Given the description of an element on the screen output the (x, y) to click on. 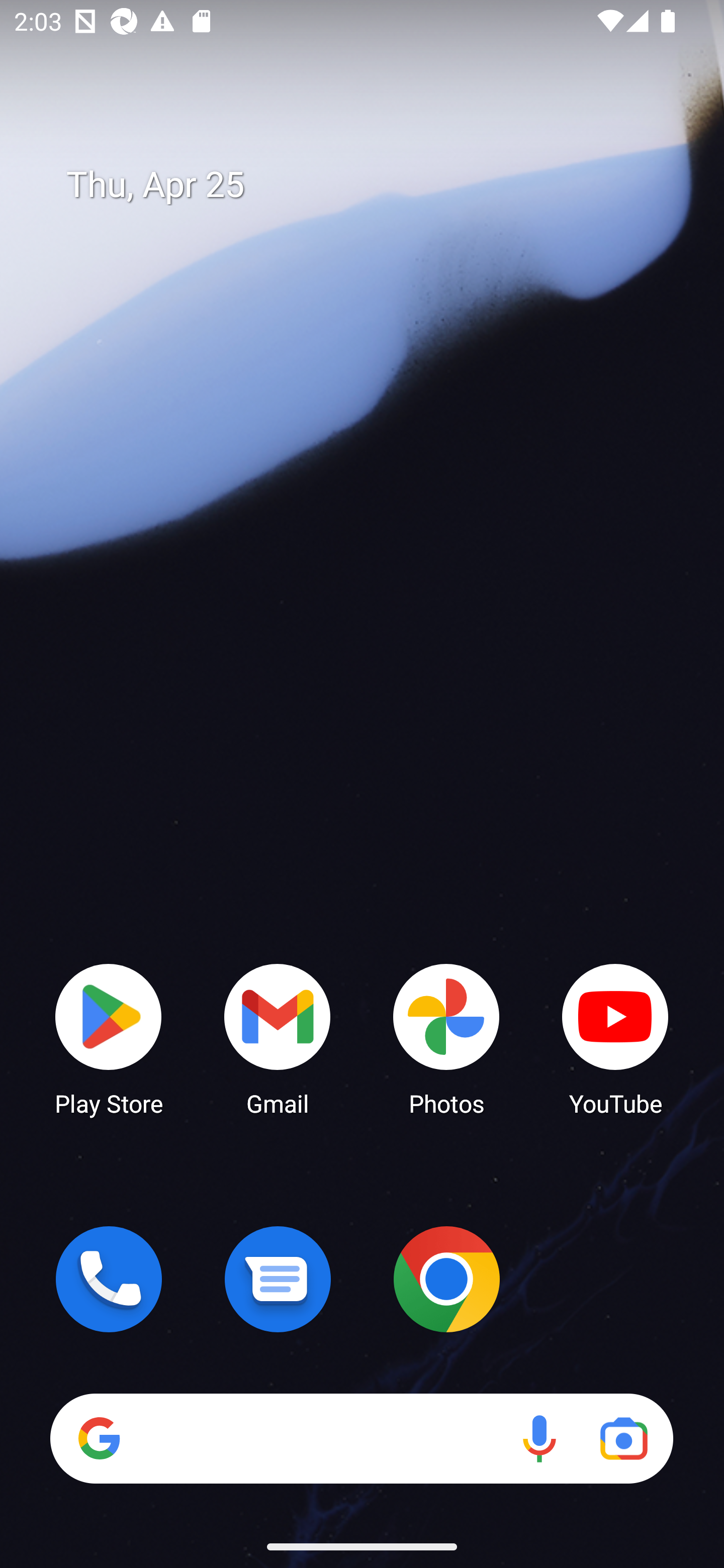
Thu, Apr 25 (375, 184)
Play Store (108, 1038)
Gmail (277, 1038)
Photos (445, 1038)
YouTube (615, 1038)
Phone (108, 1279)
Messages (277, 1279)
Chrome (446, 1279)
Search Voice search Google Lens (361, 1438)
Voice search (539, 1438)
Google Lens (623, 1438)
